Given the description of an element on the screen output the (x, y) to click on. 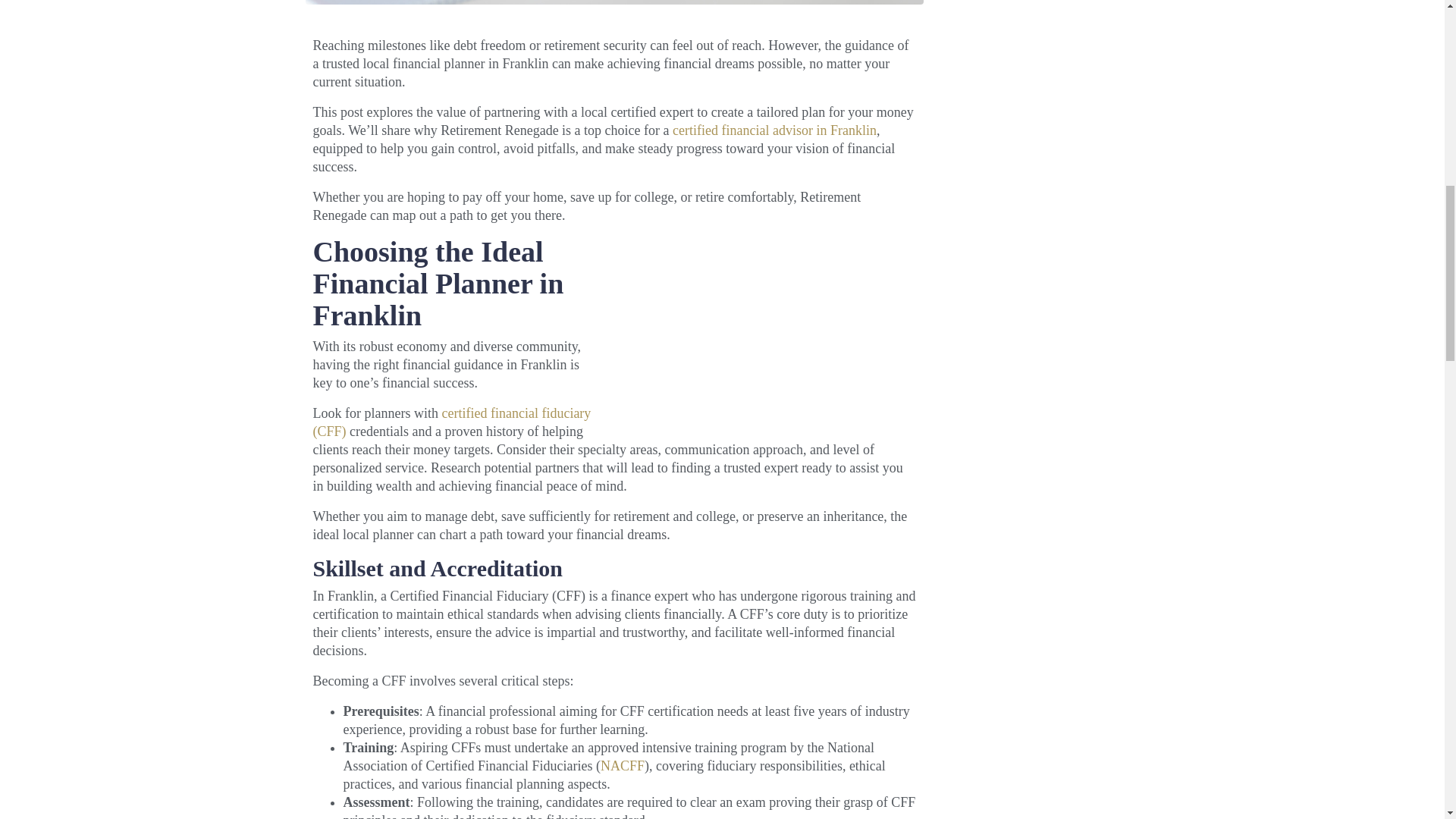
NACFF (622, 765)
certified financial advisor in Franklin (774, 130)
